Given the description of an element on the screen output the (x, y) to click on. 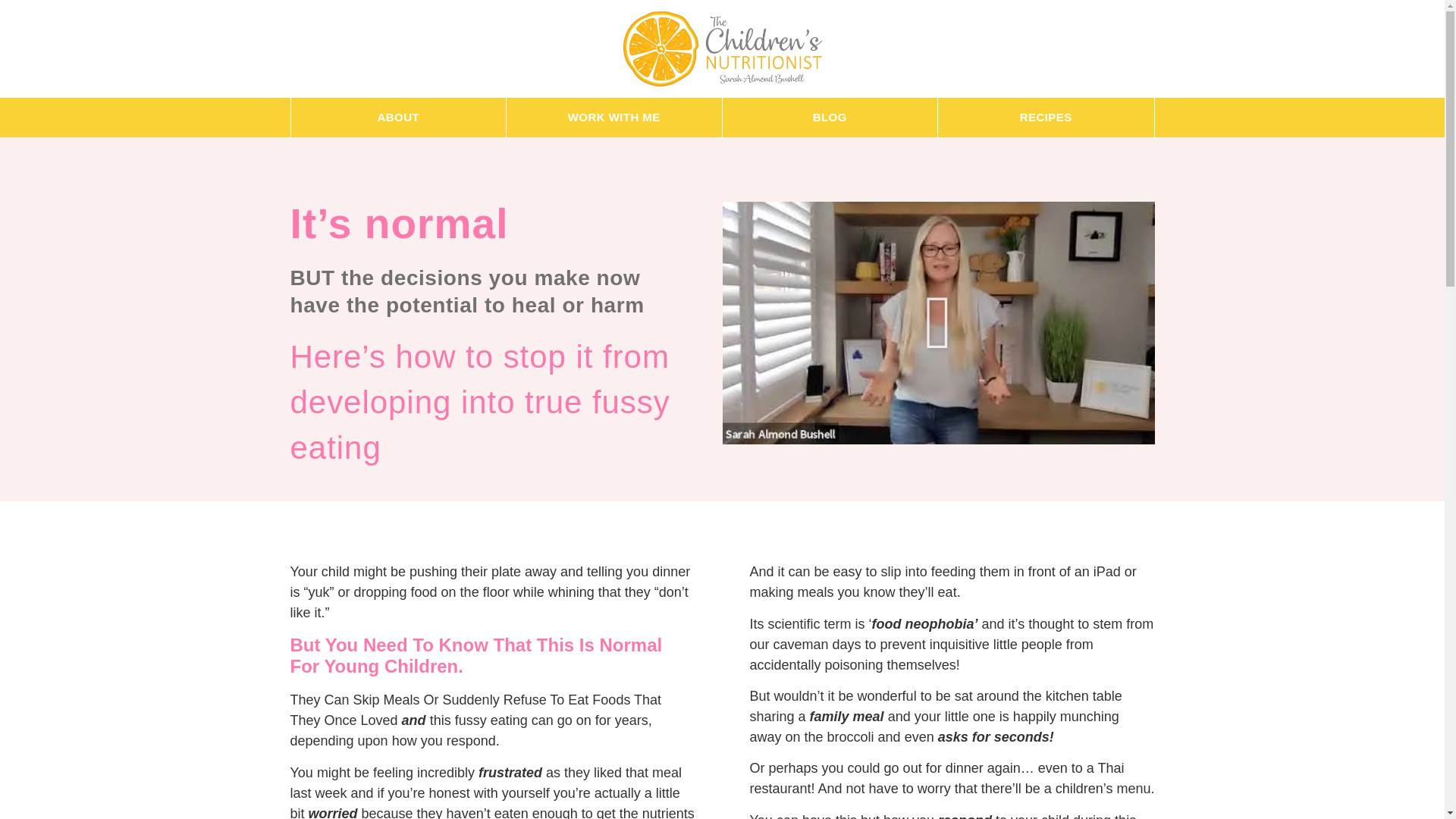
WORK WITH ME (614, 116)
RECIPES (1045, 116)
BLOG (829, 116)
ABOUT (398, 116)
